Given the description of an element on the screen output the (x, y) to click on. 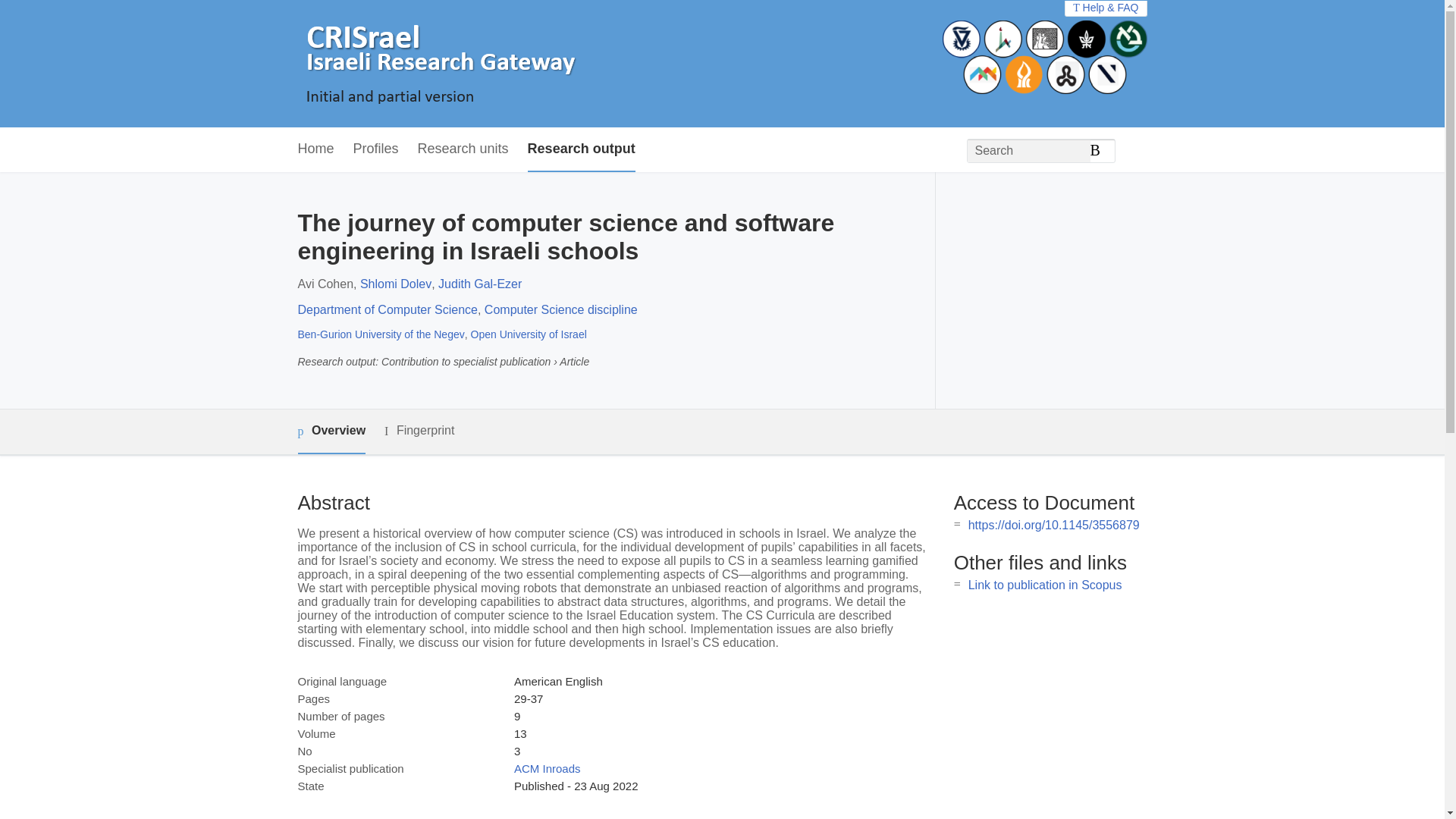
Open University of Israel (528, 334)
Ben-Gurion University of the Negev (380, 334)
ACM Inroads (546, 768)
Research units (462, 149)
Fingerprint (419, 430)
Link to publication in Scopus (1045, 584)
Profiles (375, 149)
Judith Gal-Ezer (479, 283)
Overview (331, 431)
Computer Science discipline (560, 309)
Israeli Research Community Portal Home (437, 63)
Shlomi Dolev (394, 283)
Department of Computer Science (387, 309)
Research output (580, 149)
